Given the description of an element on the screen output the (x, y) to click on. 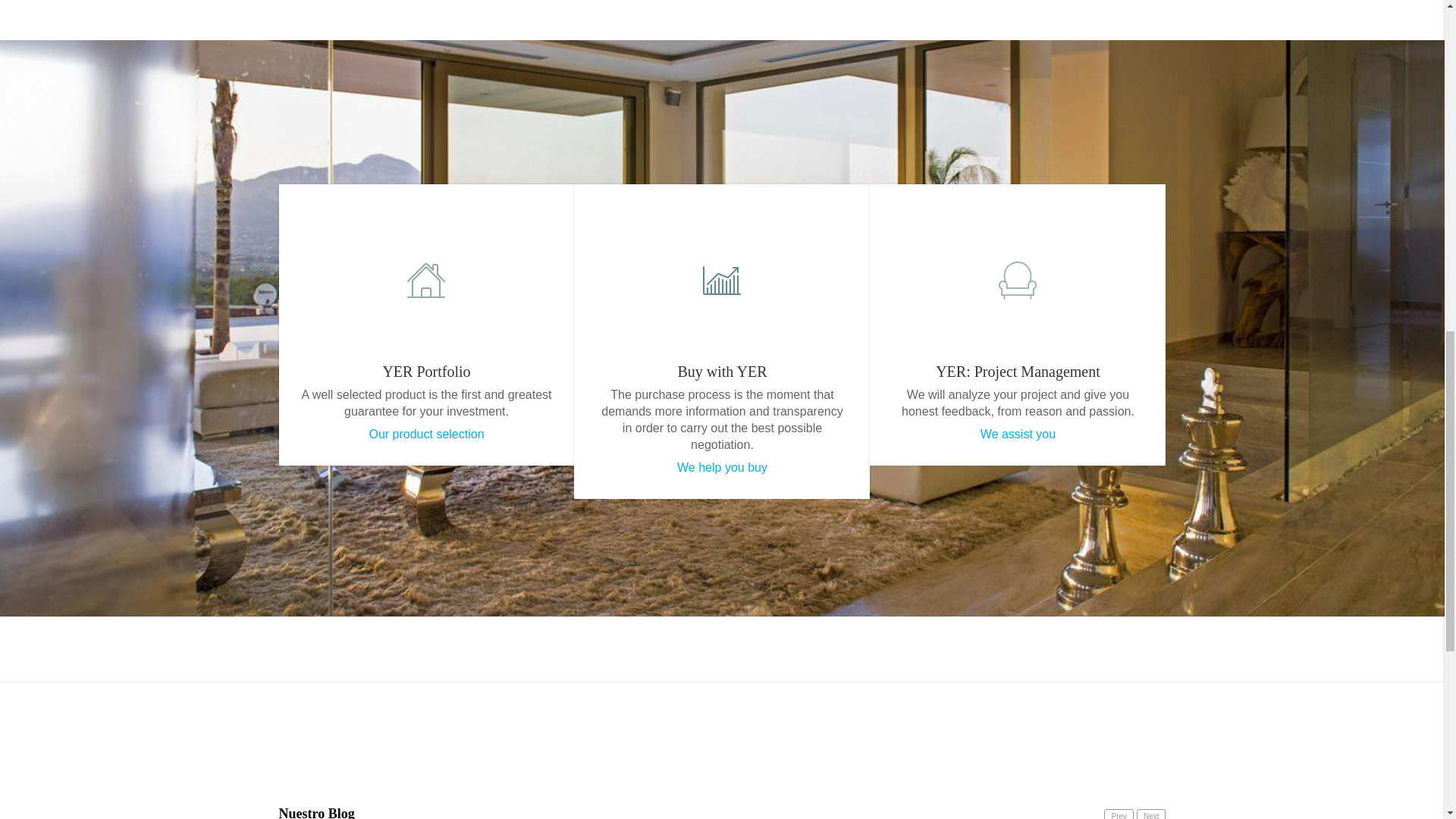
We assist you (1017, 433)
We help you buy (722, 467)
Our product selection (425, 433)
Next (1151, 814)
Prev (1118, 814)
